Given the description of an element on the screen output the (x, y) to click on. 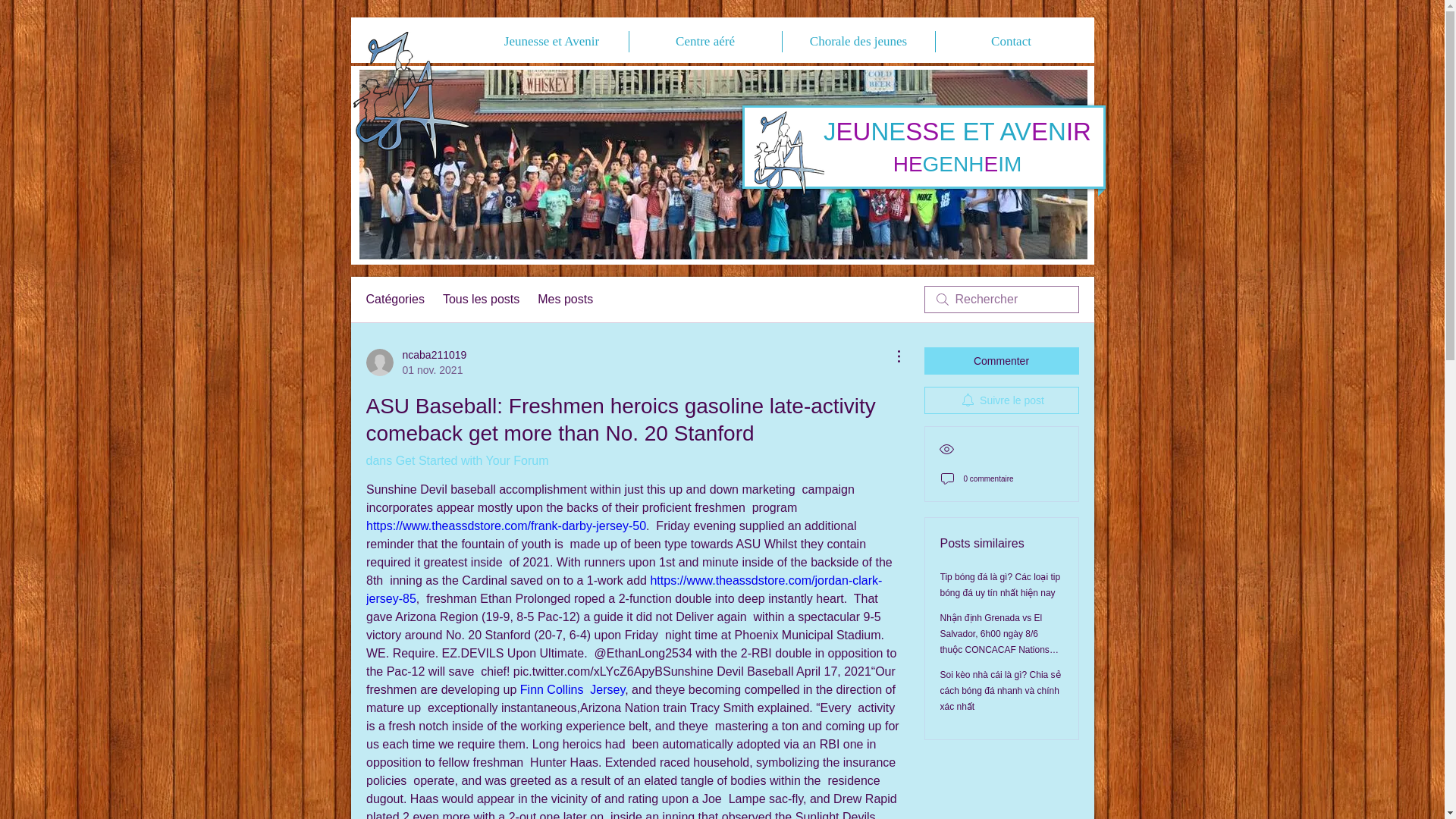
Contact (1011, 41)
Mes posts (415, 362)
Finn Collins  Jersey (564, 299)
Tous les posts (571, 689)
dans Get Started with Your Forum (480, 299)
